Given the description of an element on the screen output the (x, y) to click on. 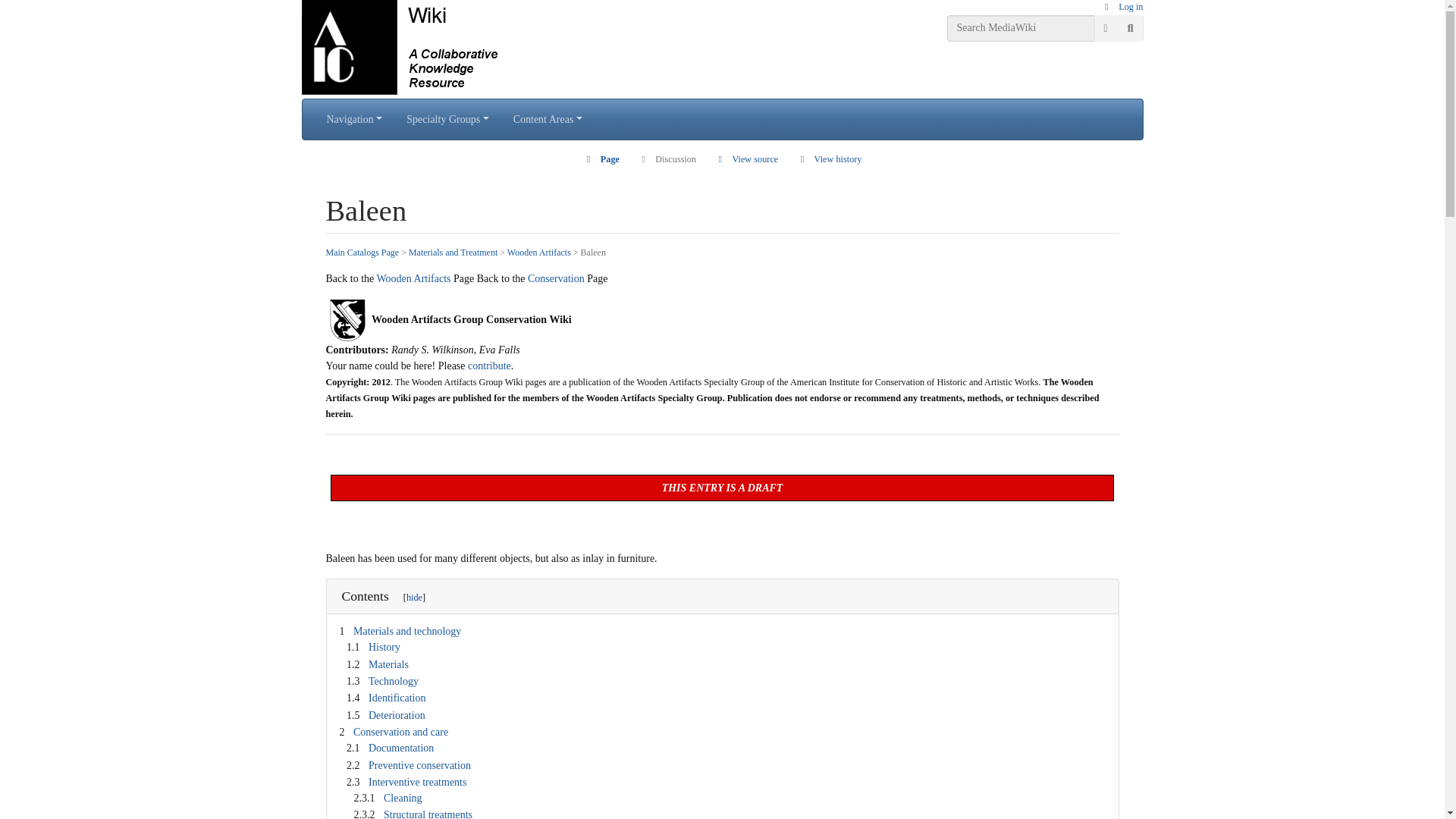
Materials and Treatment (453, 252)
Navigation (354, 119)
Log in (1121, 6)
Search (1130, 28)
View source (745, 159)
View history (828, 159)
Wooden Artifacts (538, 252)
Wooden Artifacts (538, 252)
Materials and Treatment (453, 252)
Visit the main page (415, 46)
